Given the description of an element on the screen output the (x, y) to click on. 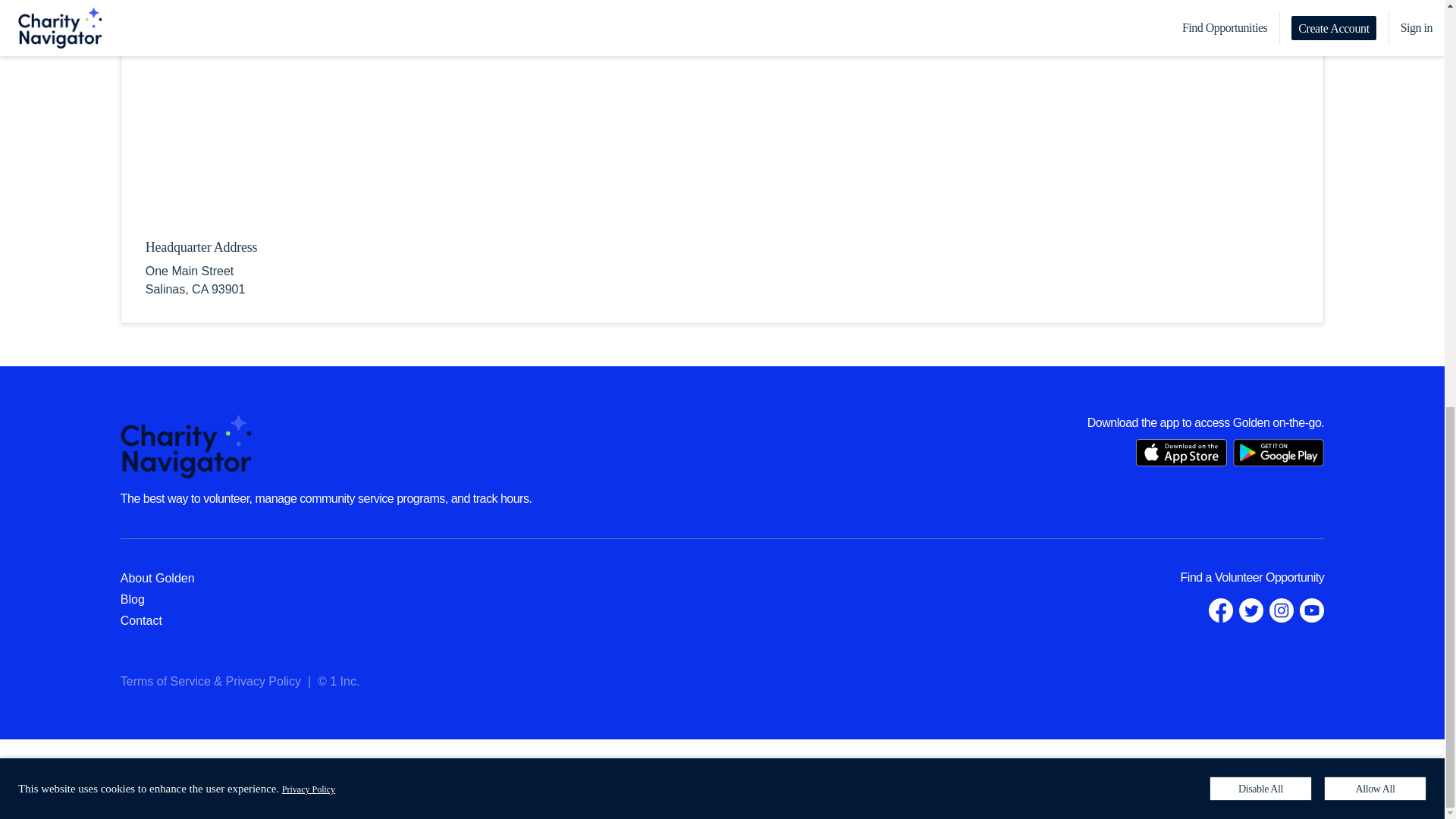
About Golden (157, 577)
Blog (132, 599)
Contact (140, 620)
Blog (132, 599)
Visit Us On Twitter (1251, 609)
Volunteer Opportunity (1268, 576)
Privacy Policy (263, 680)
AppStore Link (1181, 452)
Visit Us On Facebook (1220, 609)
Visit Us On YouTube (1311, 609)
